Given the description of an element on the screen output the (x, y) to click on. 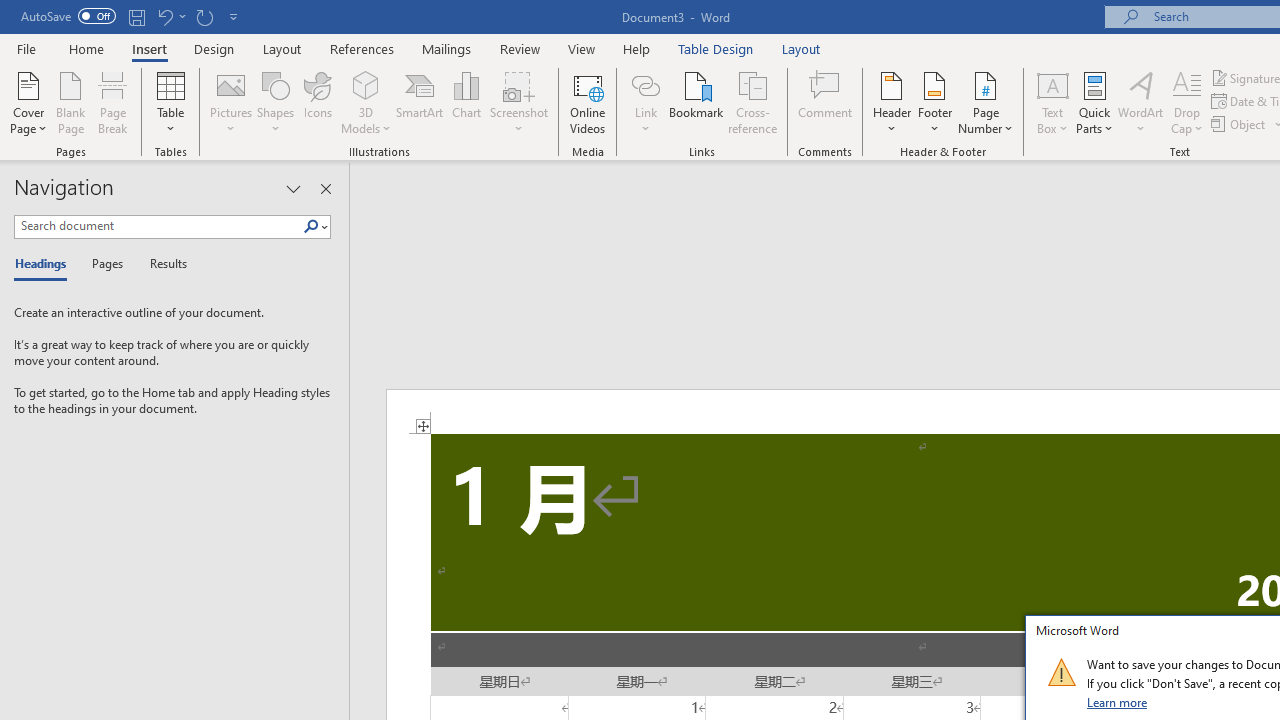
Chart... (466, 102)
Page Break (113, 102)
Shapes (275, 102)
Undo Increase Indent (164, 15)
Text Box (1052, 102)
